Given the description of an element on the screen output the (x, y) to click on. 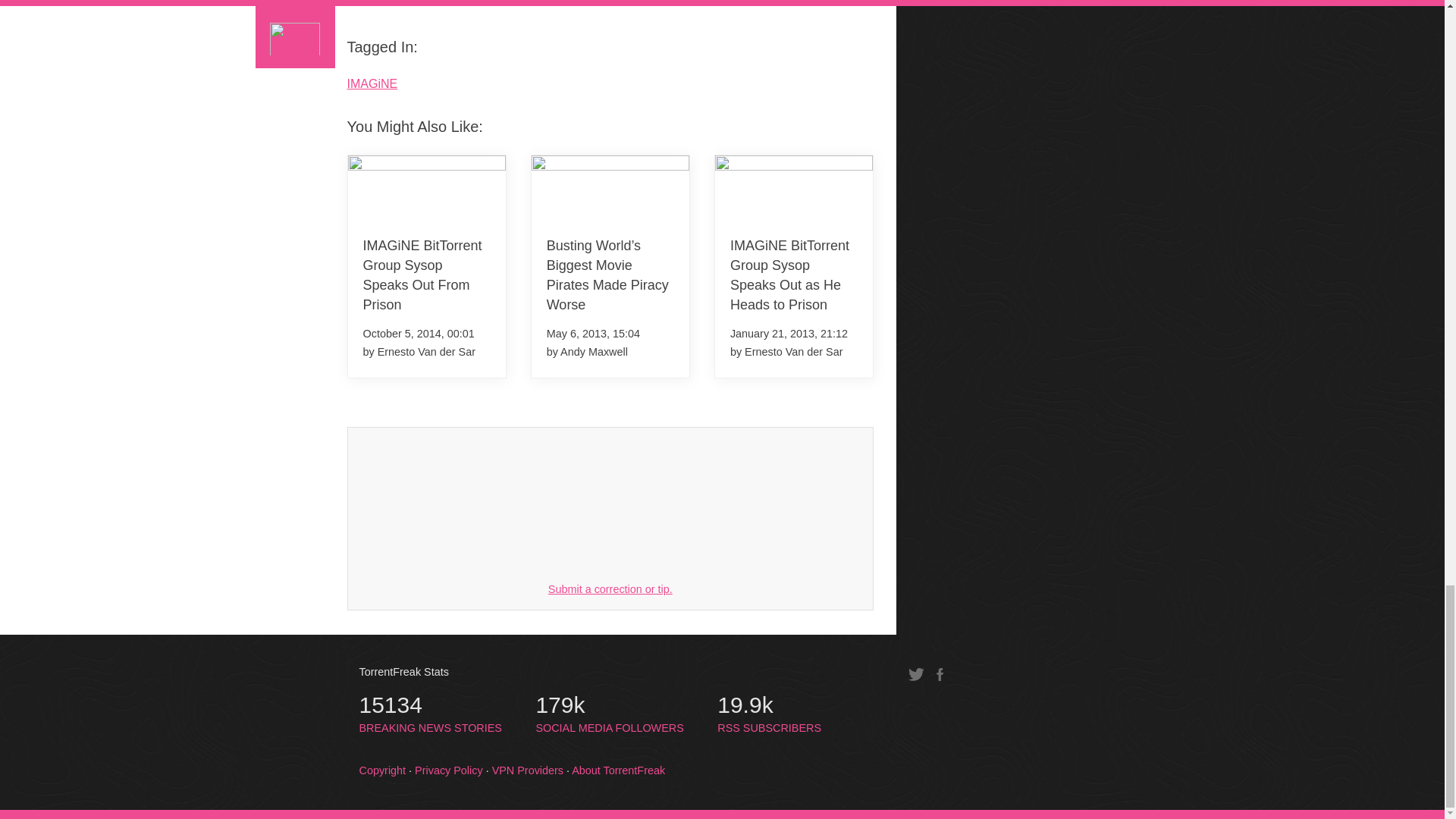
Next Post (430, 714)
Submit a correction or tip. (380, 6)
Previous Post (610, 589)
IMAGiNE (830, 6)
